Given the description of an element on the screen output the (x, y) to click on. 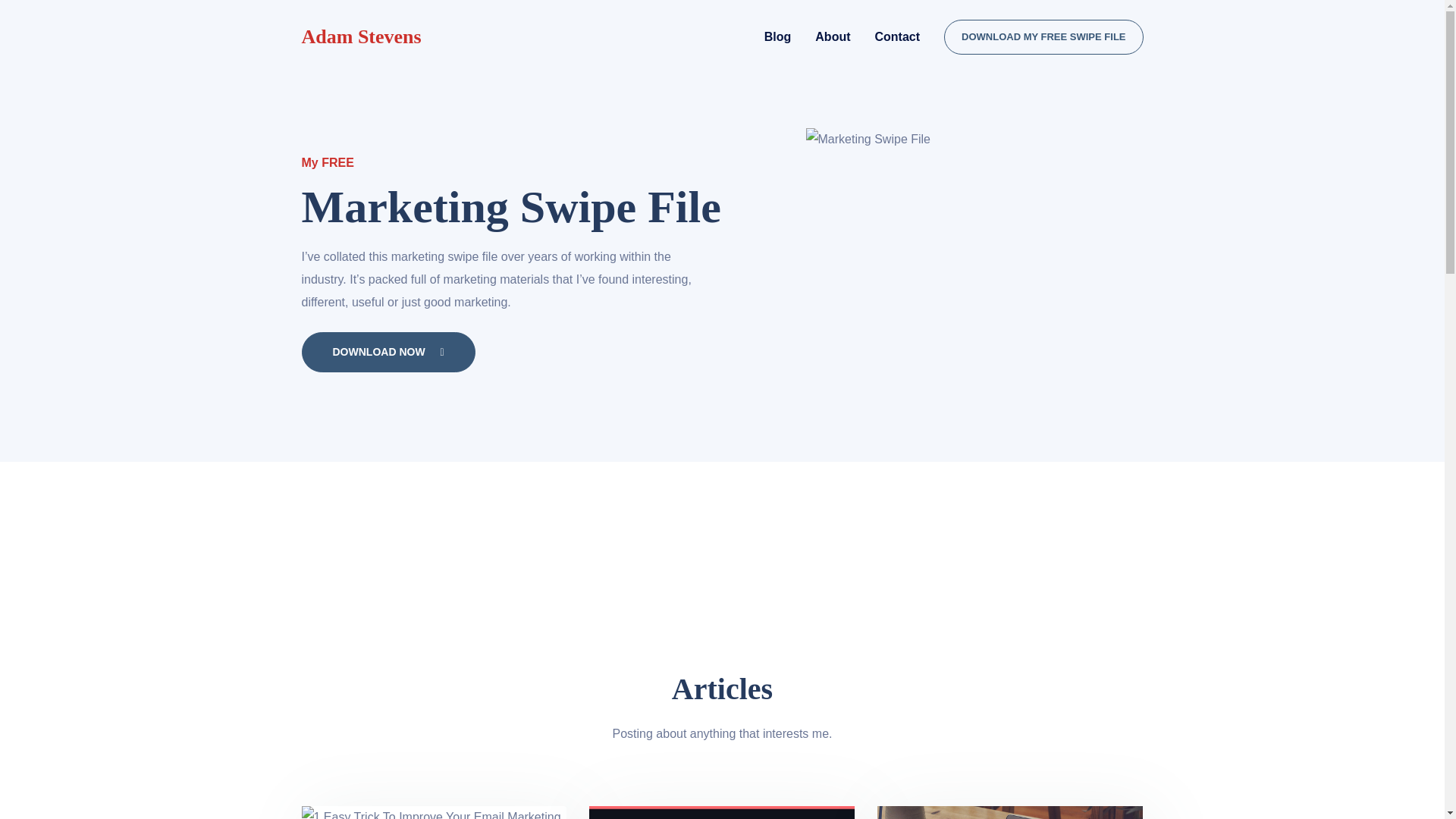
Blog (777, 36)
Contact (898, 36)
About (832, 36)
DOWNLOAD MY FREE SWIPE FILE (1042, 36)
Blog (777, 36)
Contact (898, 36)
Adam Stevens (361, 36)
About (832, 36)
DOWNLOAD NOW (388, 352)
